Given the description of an element on the screen output the (x, y) to click on. 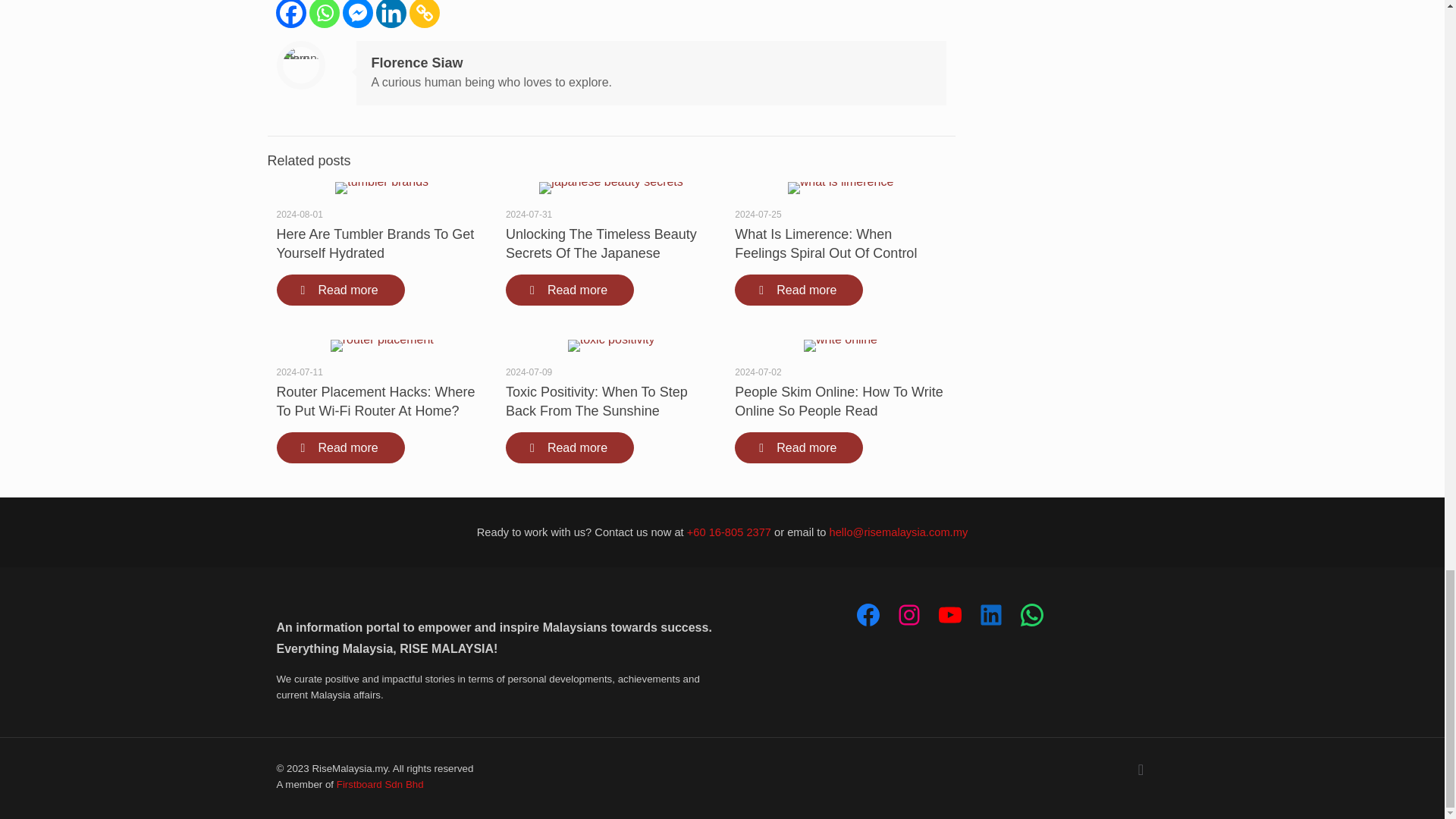
Read more (340, 289)
Here Are Tumbler Brands To Get Yourself Hydrated (375, 243)
Whatsapp (323, 13)
Linkedin (390, 13)
Copy Link (424, 13)
Facebook (290, 13)
Florence Siaw (417, 62)
